Given the description of an element on the screen output the (x, y) to click on. 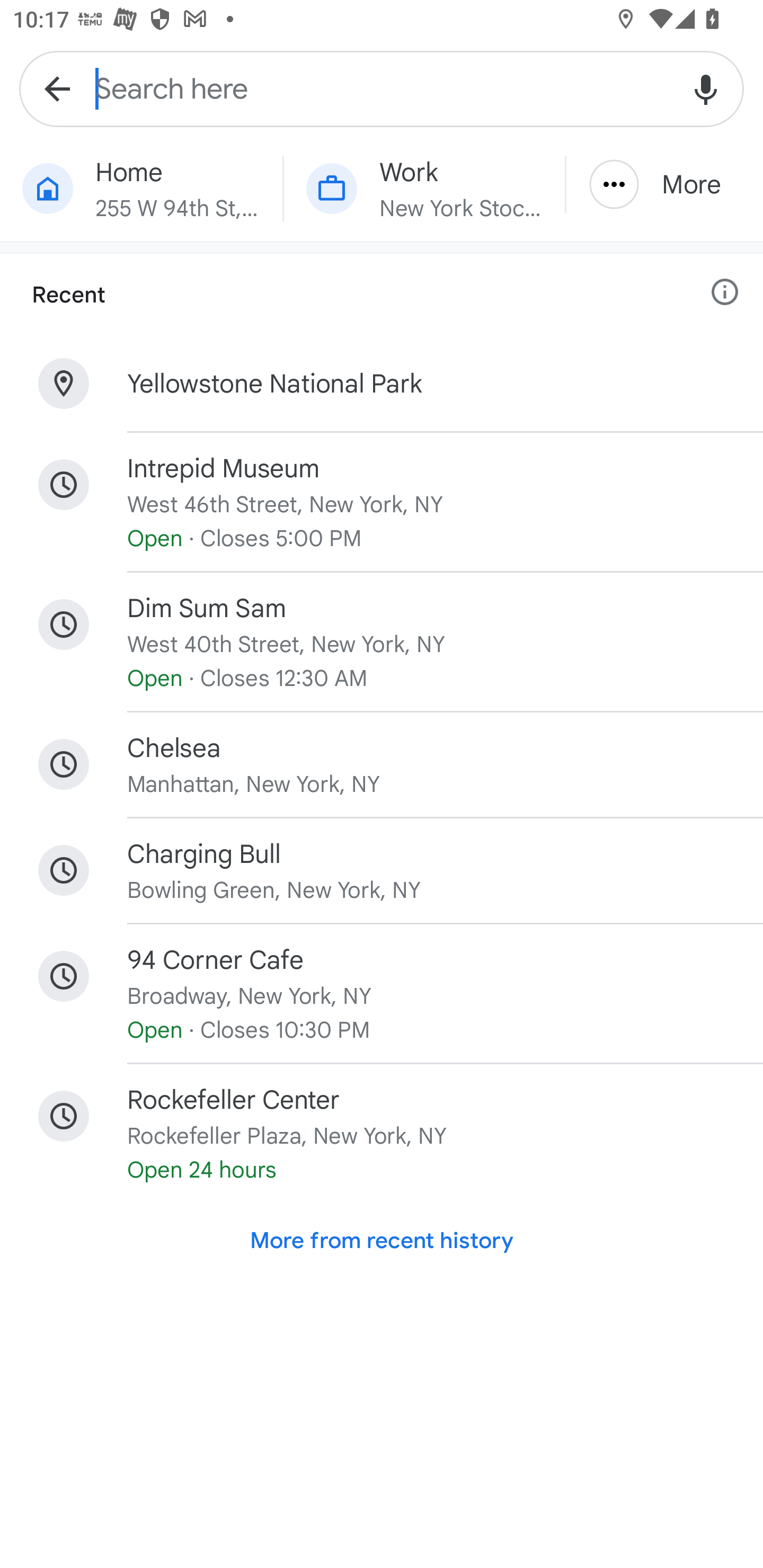
Navigate up (57, 88)
Search here (381, 88)
Voice search (705, 88)
More (664, 184)
Yellowstone National Park (381, 383)
Chelsea Manhattan, New York, NY (381, 763)
Charging Bull Bowling Green, New York, NY (381, 870)
More from recent history (381, 1240)
